Given the description of an element on the screen output the (x, y) to click on. 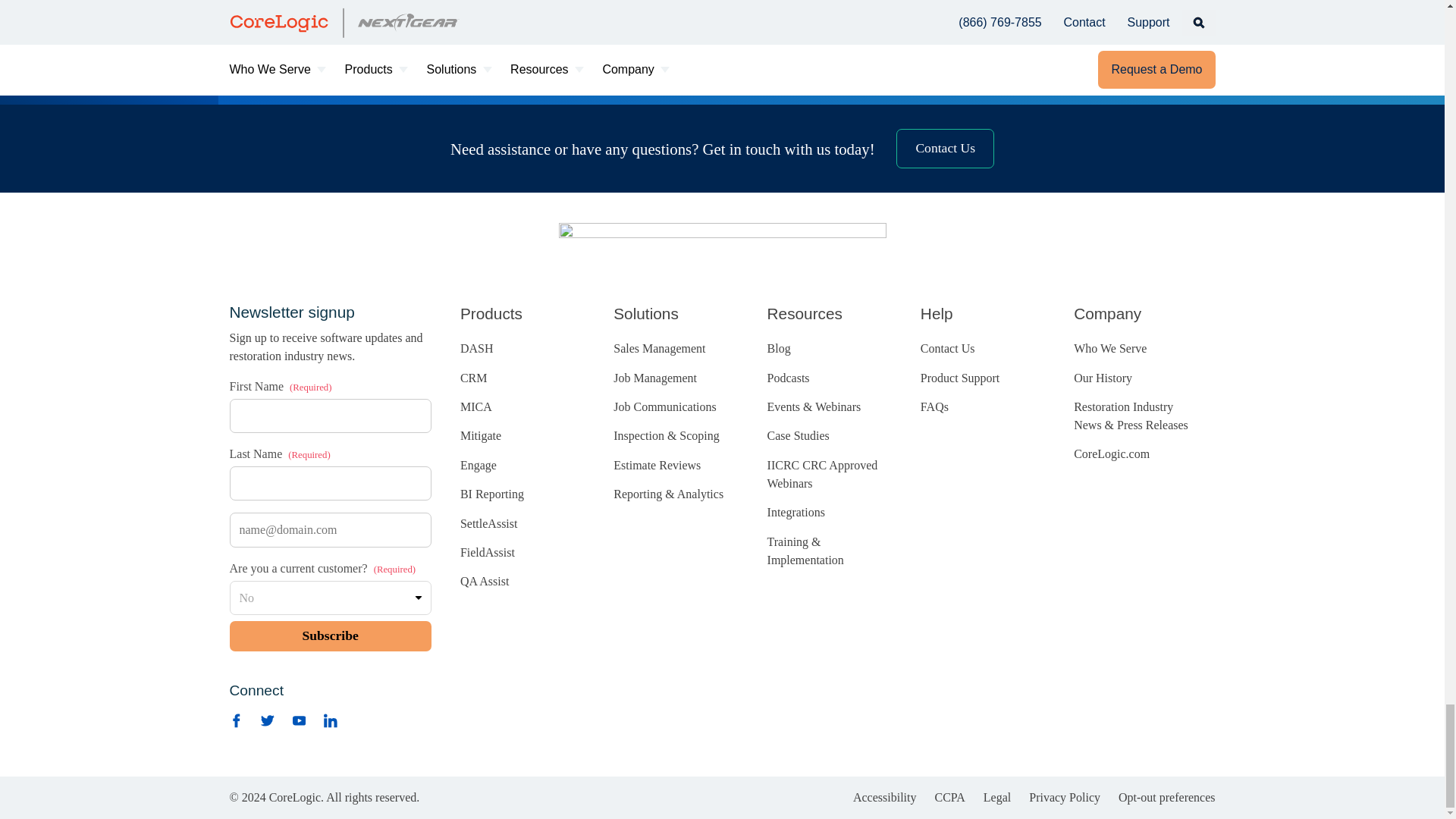
Subscribe (329, 635)
